Given the description of an element on the screen output the (x, y) to click on. 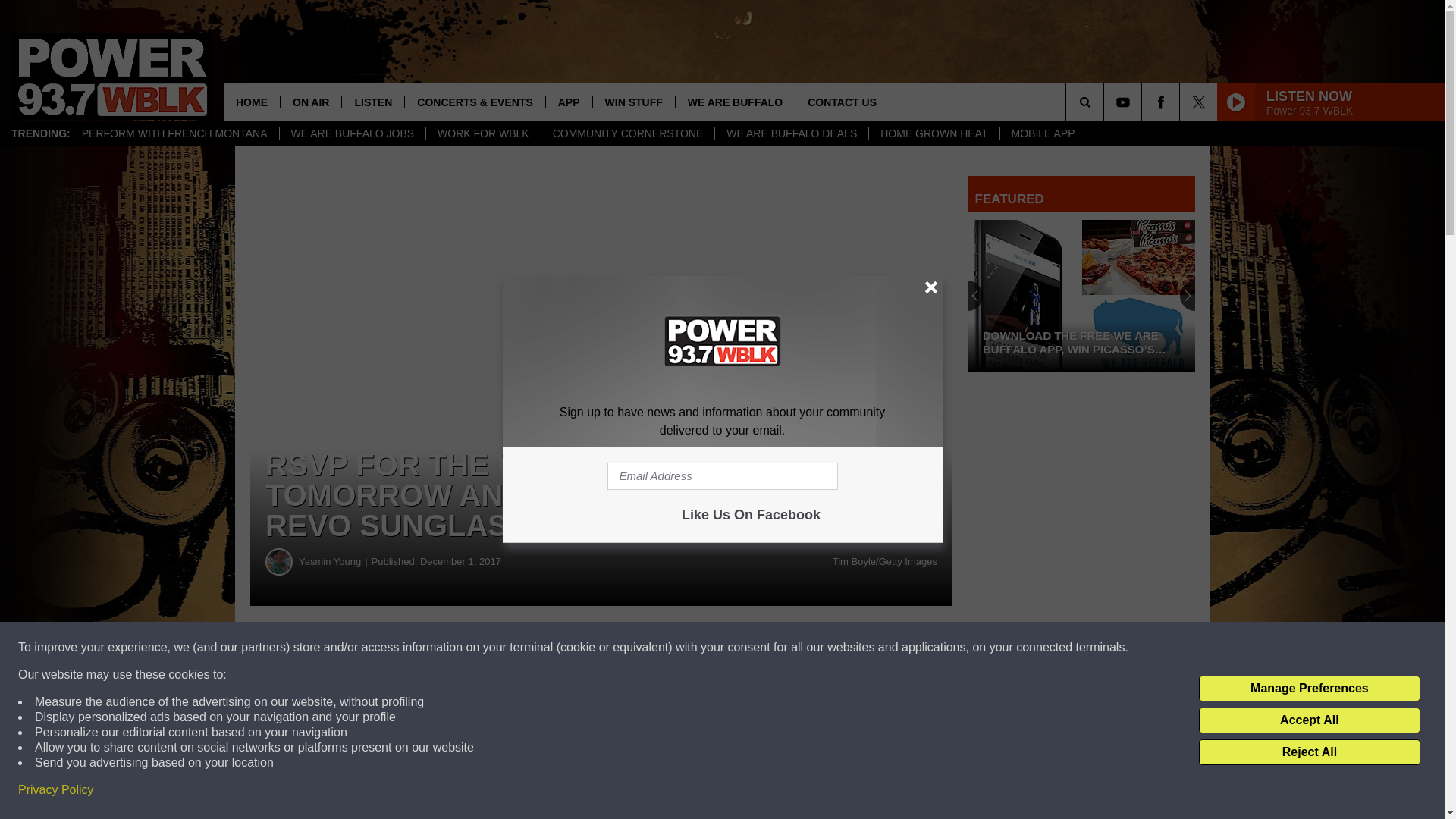
Accept All (1309, 720)
WE ARE BUFFALO (734, 102)
Email Address (722, 475)
WE ARE BUFFALO JOBS (352, 133)
WIN STUFF (633, 102)
PERFORM WITH FRENCH MONTANA (174, 133)
Share on Facebook (460, 647)
Manage Preferences (1309, 688)
WORK FOR WBLK (482, 133)
SEARCH (1106, 102)
ON AIR (309, 102)
LISTEN (372, 102)
Privacy Policy (55, 789)
HOME GROWN HEAT (932, 133)
Share on Twitter (741, 647)
